Given the description of an element on the screen output the (x, y) to click on. 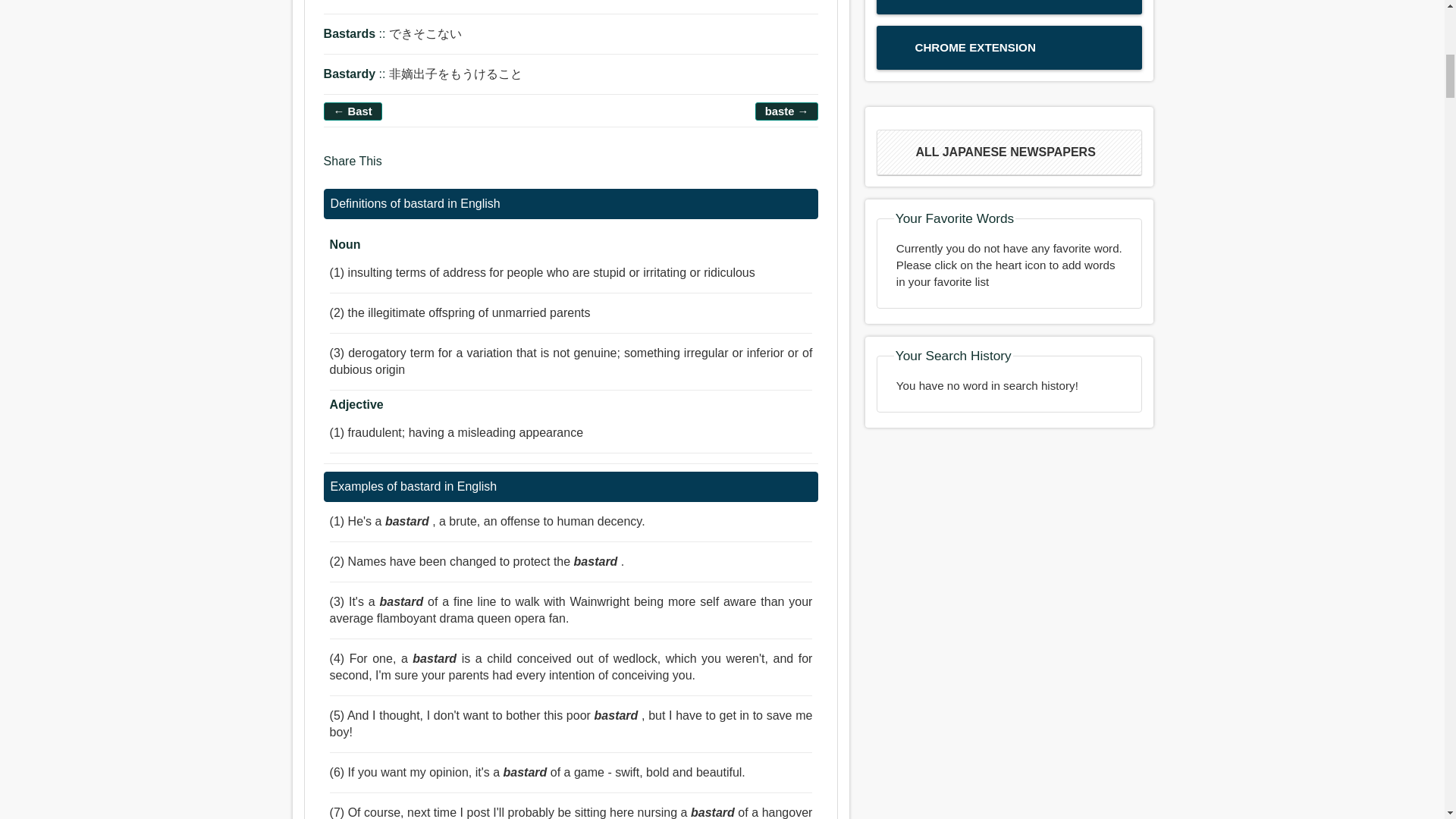
Twitter (428, 168)
English to Japanese meaning of bast (352, 110)
Linkedin (458, 168)
English to Japanese meaning of baste (786, 110)
Facebook (398, 168)
More Share (485, 168)
